Given the description of an element on the screen output the (x, y) to click on. 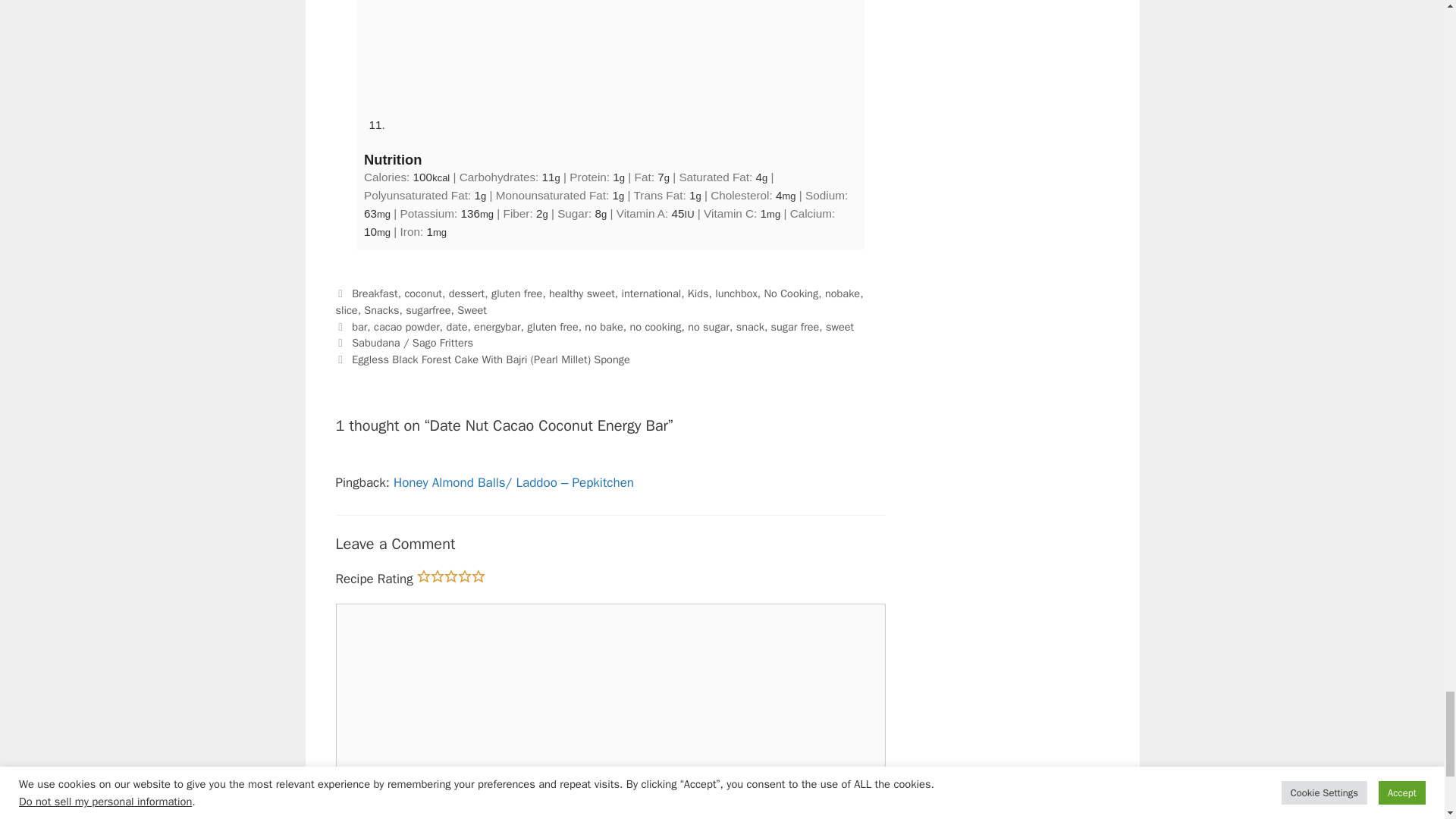
Snacks (381, 309)
nobake (842, 293)
gluten free (516, 293)
slice (345, 309)
bar (359, 326)
dessert (466, 293)
coconut (423, 293)
No Cooking (791, 293)
Kids (698, 293)
Breakfast (374, 293)
international (651, 293)
Sweet (471, 309)
Next (481, 359)
Previous (402, 342)
sugarfree (427, 309)
